Given the description of an element on the screen output the (x, y) to click on. 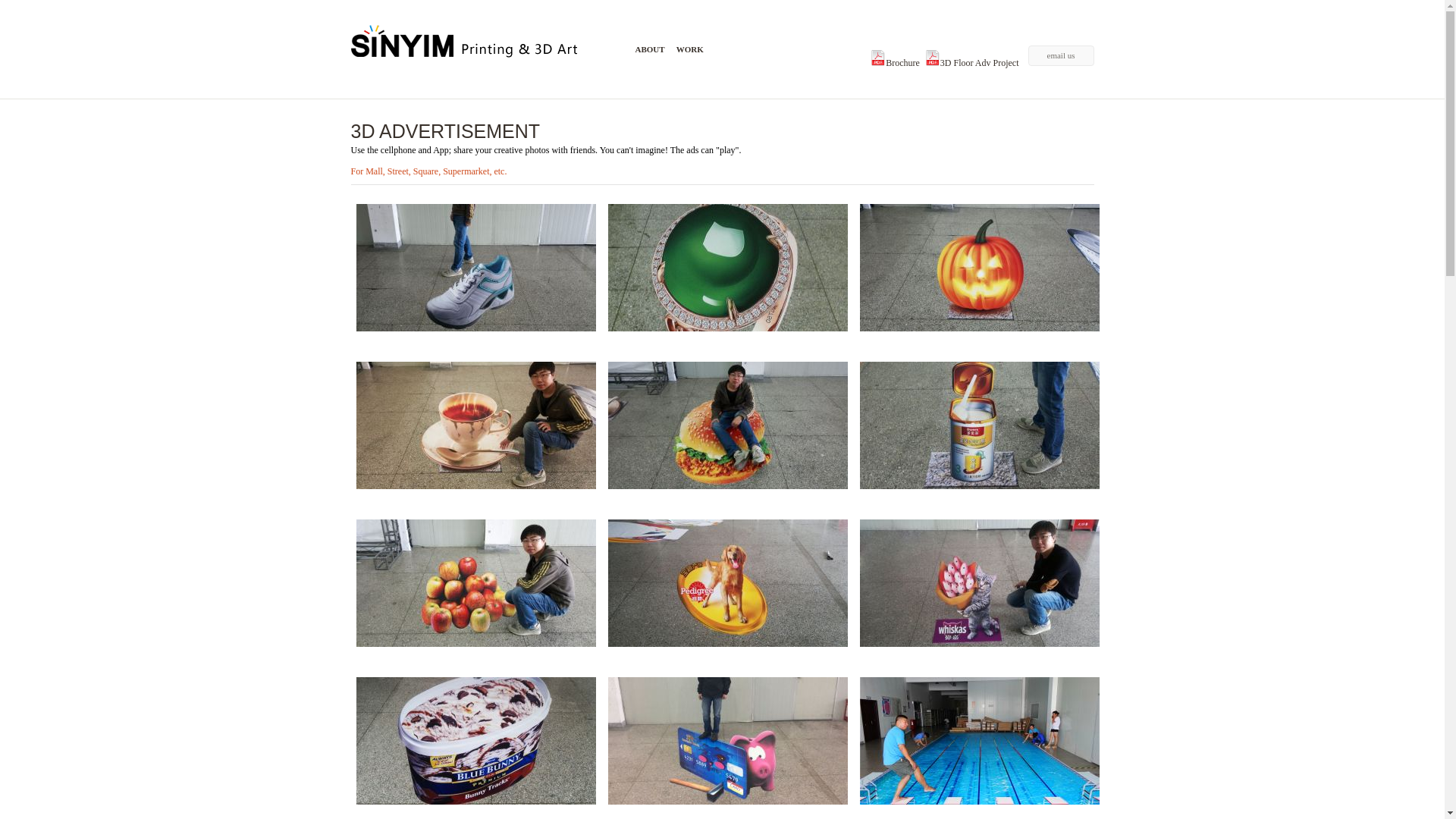
view imgae Element type: hover (979, 425)
view imgae Element type: hover (979, 267)
view imgae Element type: hover (727, 425)
view imgae Element type: hover (727, 582)
view imgae Element type: hover (476, 425)
view imgae Element type: hover (476, 267)
view imgae Element type: hover (979, 740)
view imgae Element type: hover (727, 740)
view imgae Element type: hover (476, 740)
view imgae Element type: hover (979, 582)
view imgae Element type: hover (727, 267)
view imgae Element type: hover (476, 582)
